Given the description of an element on the screen output the (x, y) to click on. 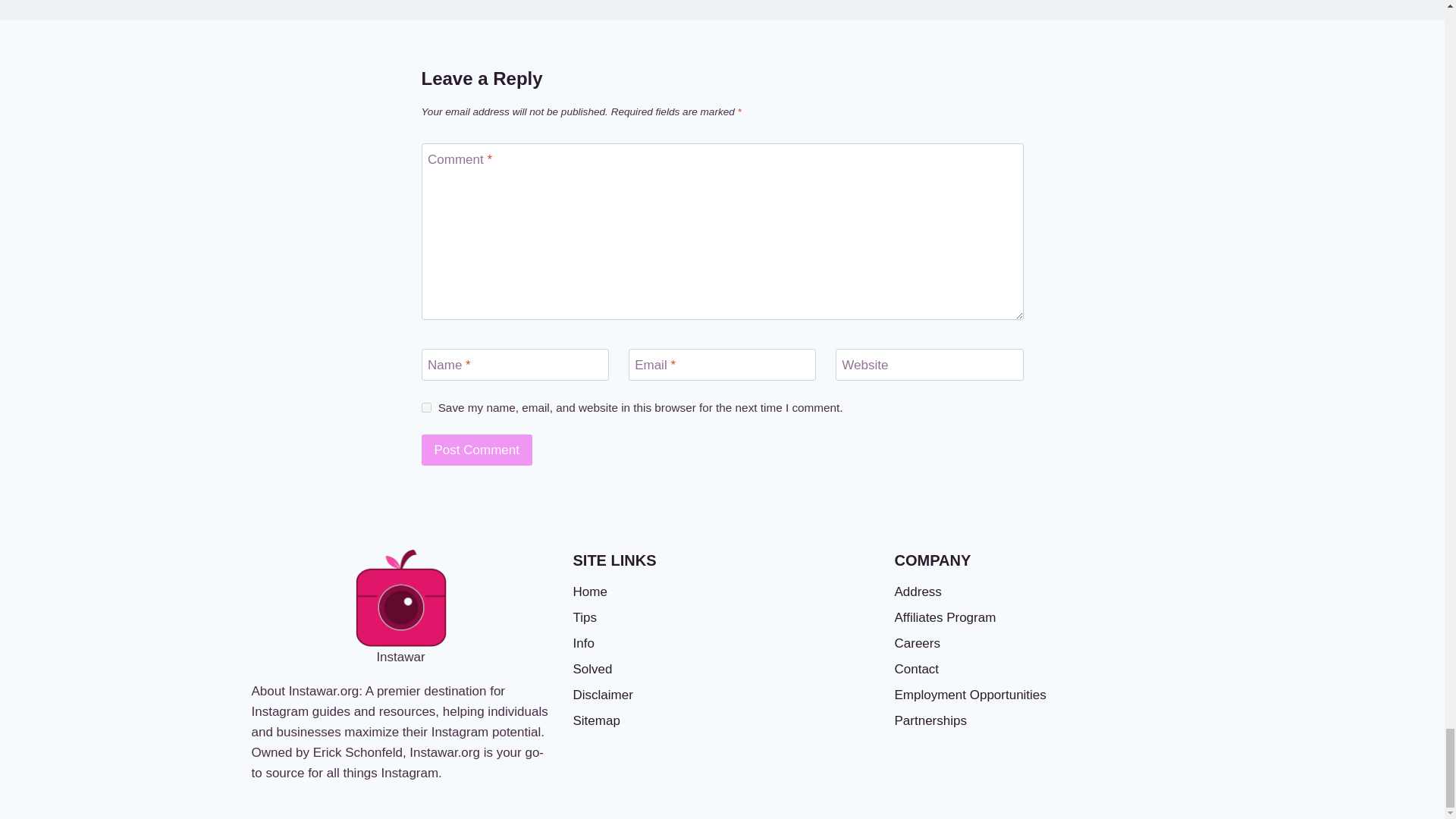
Post Comment (477, 450)
yes (426, 407)
